Given the description of an element on the screen output the (x, y) to click on. 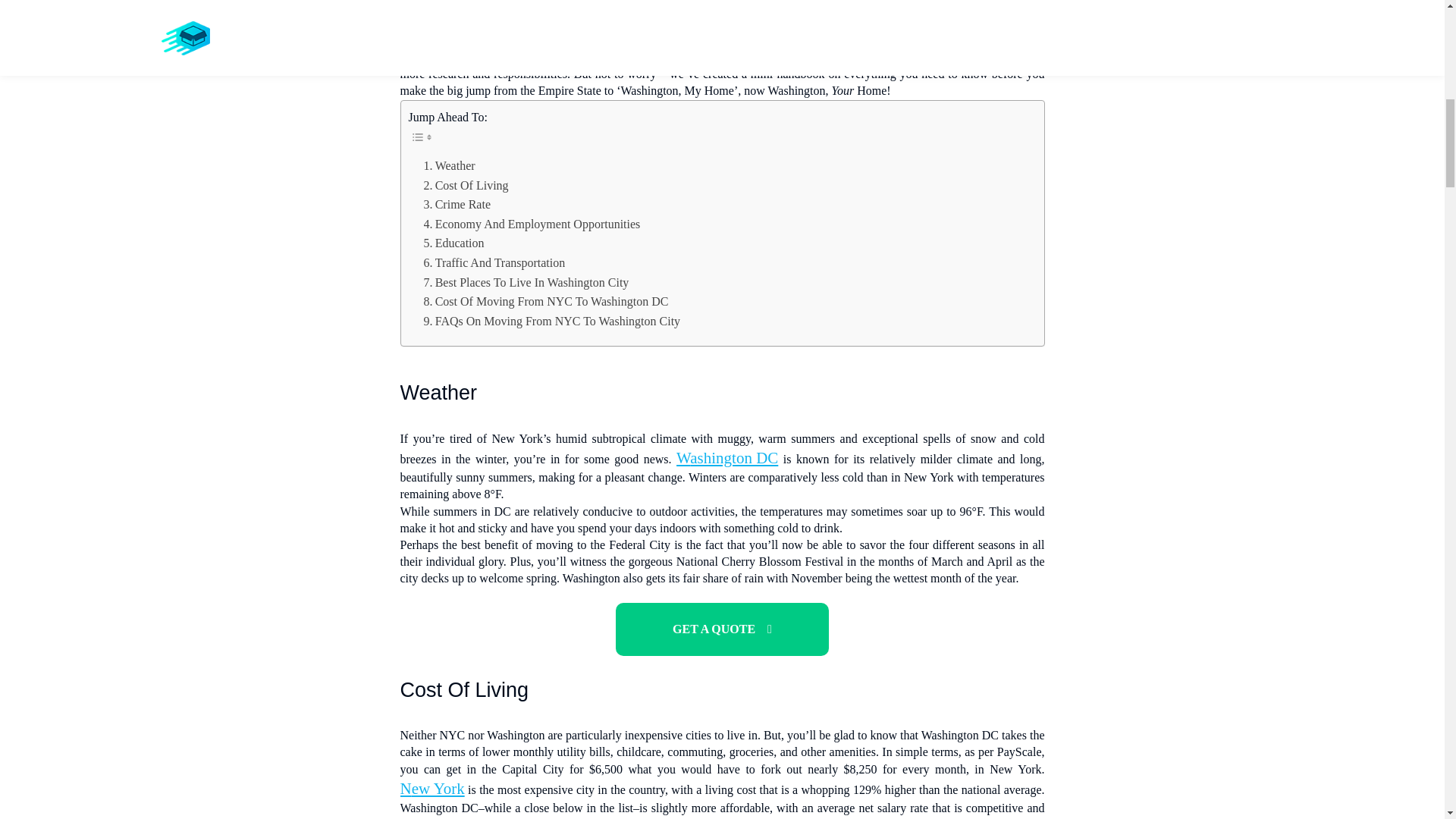
Cost Of Living (465, 185)
Education (453, 243)
Best Places To Live In Washington City (525, 282)
Cost Of Moving From NYC To Washington DC (545, 301)
Crime Rate (456, 204)
Washington DC (727, 458)
Best Places To Live In Washington City (525, 282)
Weather (448, 166)
Crime Rate (456, 204)
Traffic And Transportation (493, 262)
Economy And Employment Opportunities (531, 224)
FAQs On Moving From NYC To Washington City (551, 321)
Weather (448, 166)
GET A QUOTE (721, 629)
Cost Of Moving From NYC To Washington DC (545, 301)
